Given the description of an element on the screen output the (x, y) to click on. 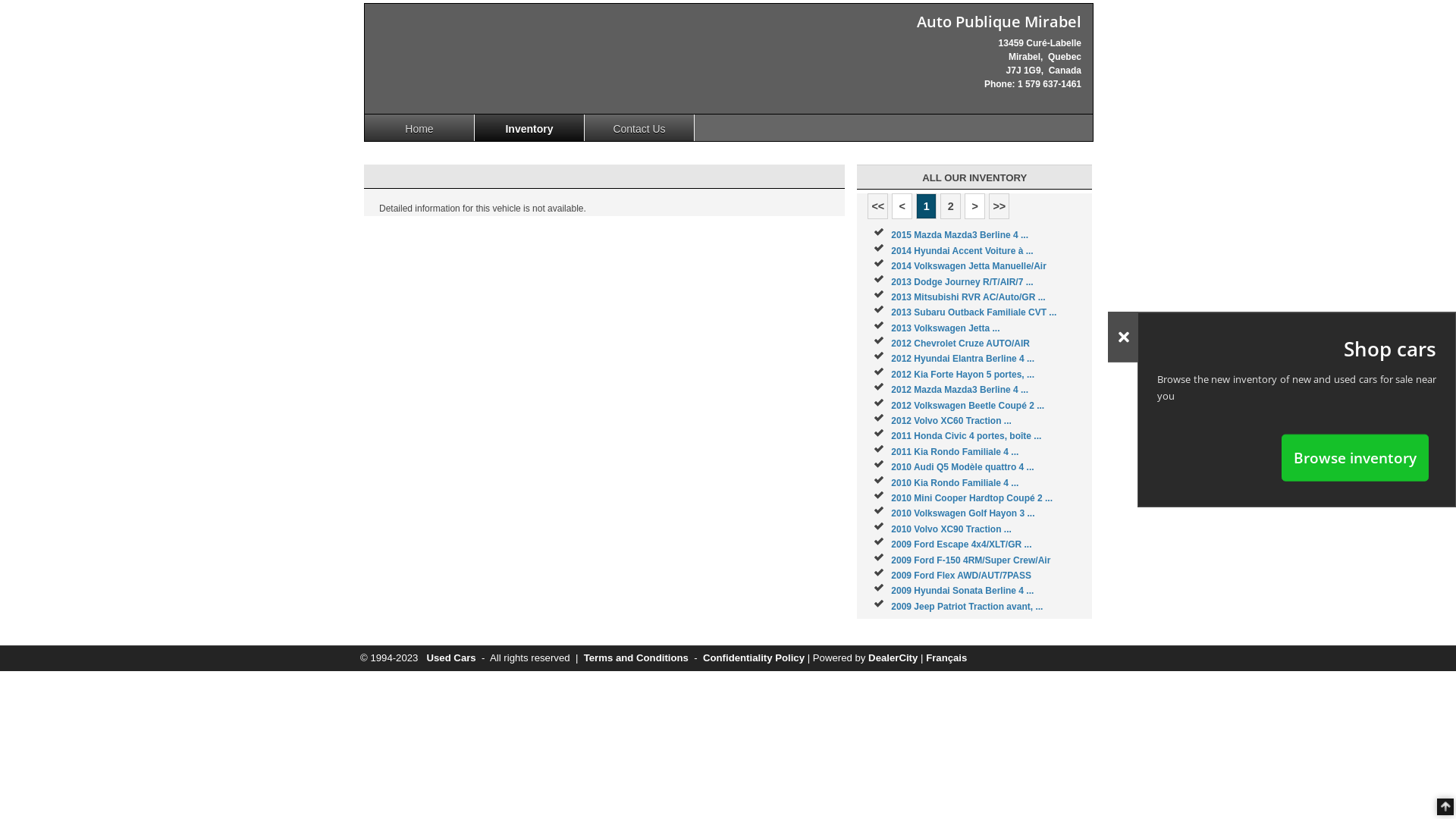
2009 Hyundai Sonata Berline 4 ... Element type: text (962, 590)
Browse inventory Element type: text (1354, 457)
Used Cars Element type: text (450, 657)
2013 Mitsubishi RVR AC/Auto/GR ... Element type: text (967, 296)
2011 Kia Rondo Familiale 4 ... Element type: text (954, 451)
2012 Volvo XC60 Traction ... Element type: text (951, 420)
2012 Chevrolet Cruze AUTO/AIR Element type: text (960, 343)
2012 Hyundai Elantra Berline 4 ... Element type: text (962, 358)
2013 Subaru Outback Familiale CVT ... Element type: text (973, 312)
2010 Volvo XC90 Traction ... Element type: text (951, 529)
2009 Ford Escape 4x4/XLT/GR ... Element type: text (961, 544)
Inventory Element type: text (529, 127)
2013 Dodge Journey R/T/AIR/7 ... Element type: text (961, 281)
2014 Volkswagen Jetta Manuelle/Air Element type: text (968, 265)
Terms and Conditions Element type: text (635, 657)
Confidentiality Policy Element type: text (753, 657)
2015 Mazda Mazda3 Berline 4 ... Element type: text (959, 234)
Contact Us Element type: text (639, 127)
2010 Volkswagen Golf Hayon 3 ... Element type: text (962, 513)
2 Element type: text (950, 206)
<< Element type: text (877, 206)
2012 Kia Forte Hayon 5 portes, ... Element type: text (962, 374)
2009 Ford F-150 4RM/Super Crew/Air Element type: text (970, 560)
>> Element type: text (998, 206)
2009 Jeep Patriot Traction avant, ... Element type: text (966, 606)
DealerCity Element type: text (892, 657)
1 Element type: text (926, 206)
> Element type: text (974, 206)
2009 Ford Flex AWD/AUT/7PASS Element type: text (961, 575)
2013 Volkswagen Jetta ... Element type: text (945, 328)
Home Element type: text (419, 127)
2012 Mazda Mazda3 Berline 4 ... Element type: text (959, 389)
< Element type: text (901, 206)
2010 Kia Rondo Familiale 4 ... Element type: text (954, 482)
